Given the description of an element on the screen output the (x, y) to click on. 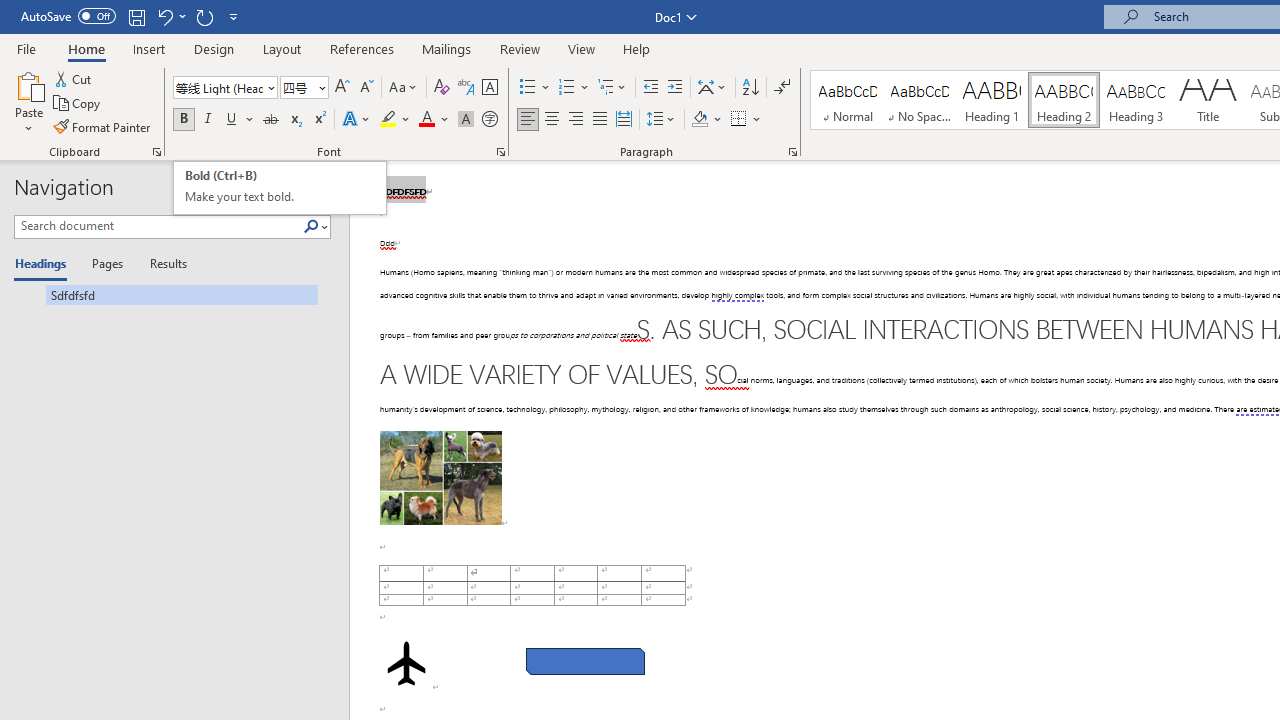
Save (136, 15)
Paste (28, 102)
Numbering (573, 87)
Underline (239, 119)
Text Effects and Typography (357, 119)
Font Size (297, 87)
Layout (282, 48)
Airplane with solid fill (406, 663)
Asian Layout (712, 87)
Shrink Font (365, 87)
